Given the description of an element on the screen output the (x, y) to click on. 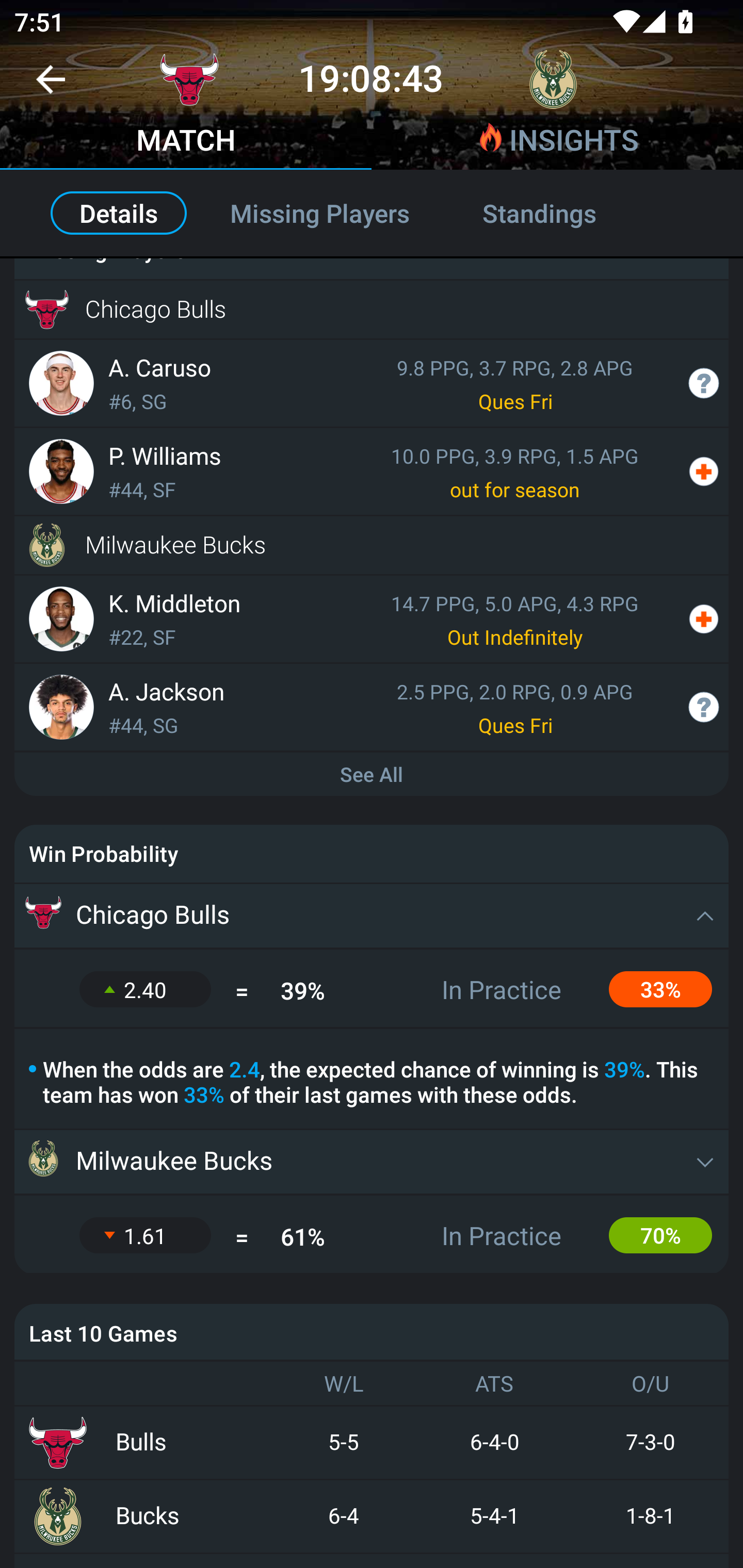
Navigate up (50, 86)
MATCH (185, 142)
INSIGHTS (557, 142)
Missing Players (319, 212)
Standings (561, 212)
Chicago Bulls (371, 309)
Milwaukee Bucks (371, 544)
See All (371, 774)
Win Probability (371, 853)
Chicago Bulls (371, 915)
Milwaukee Bucks (371, 1161)
Bulls 5-5 6-4-0 7-3-0 (371, 1442)
Bucks 6-4 5-4-1 1-8-1 (371, 1516)
